Given the description of an element on the screen output the (x, y) to click on. 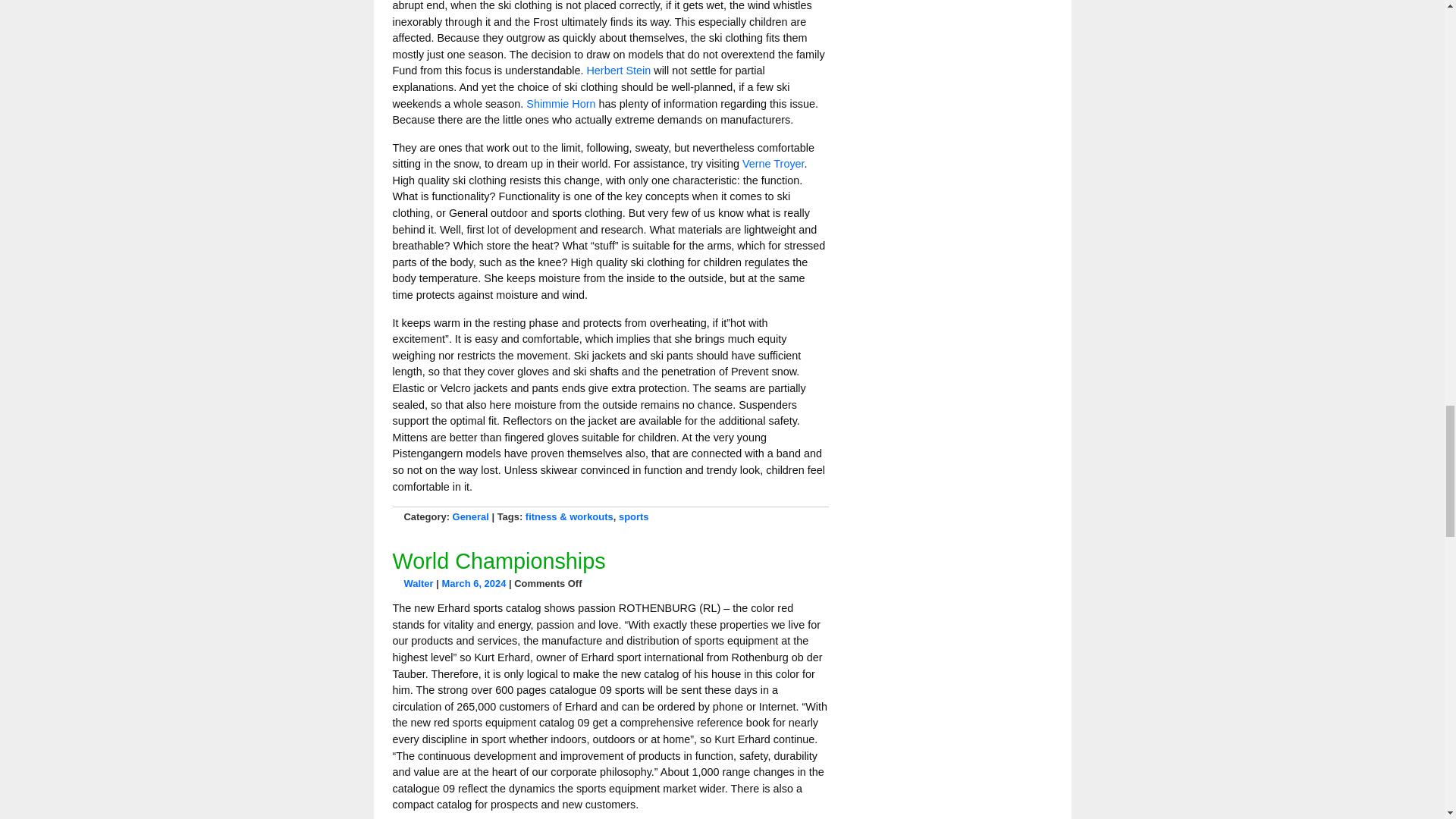
Verne Troyer (773, 163)
Shimmie Horn (560, 102)
Posts by Walter (417, 583)
World Championships (499, 560)
sports (633, 516)
Walter (417, 583)
March 6, 2024 (473, 583)
General (470, 516)
Herbert Stein (618, 70)
